Given the description of an element on the screen output the (x, y) to click on. 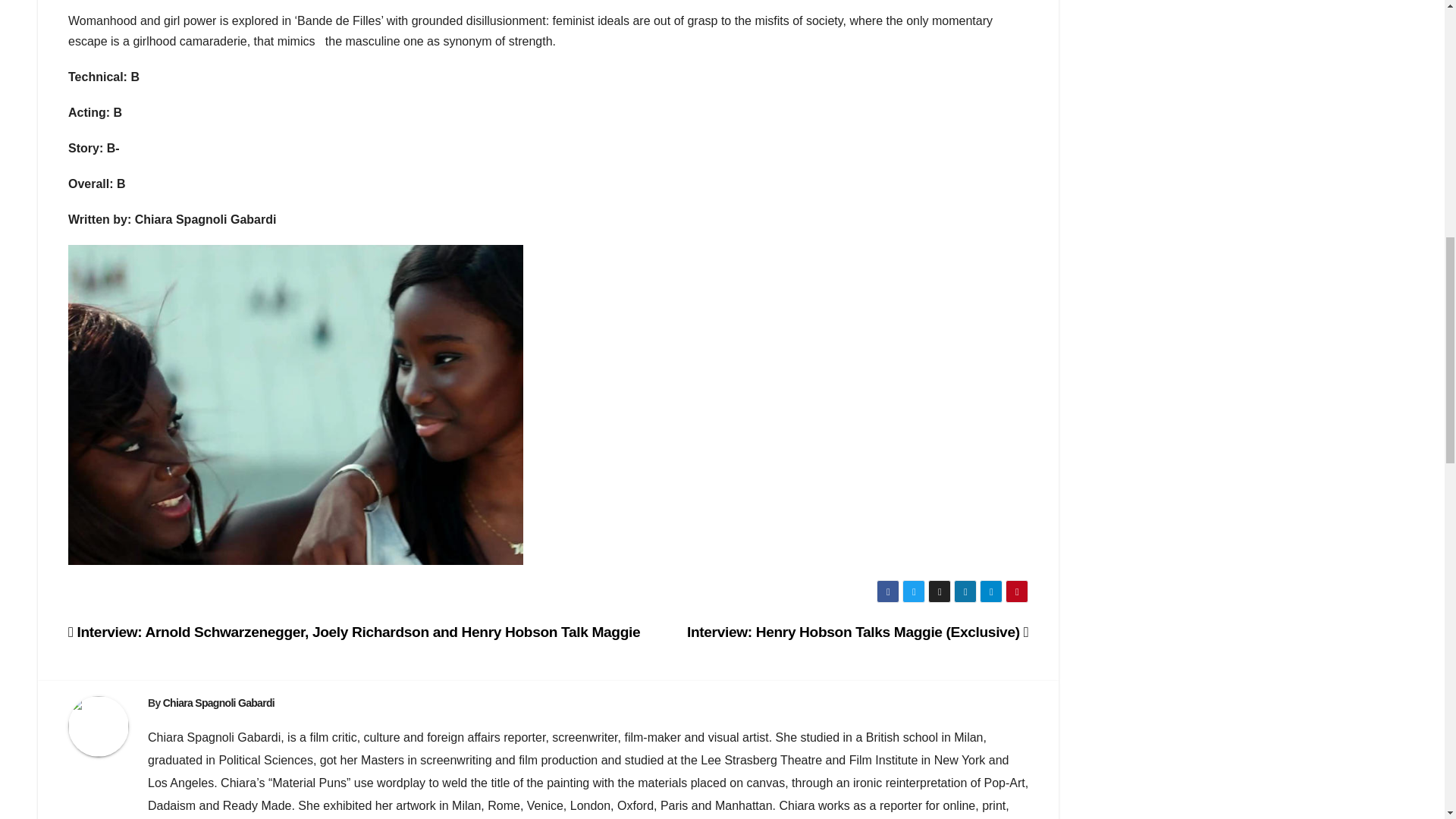
Chiara Spagnoli Gabardi (219, 702)
